Given the description of an element on the screen output the (x, y) to click on. 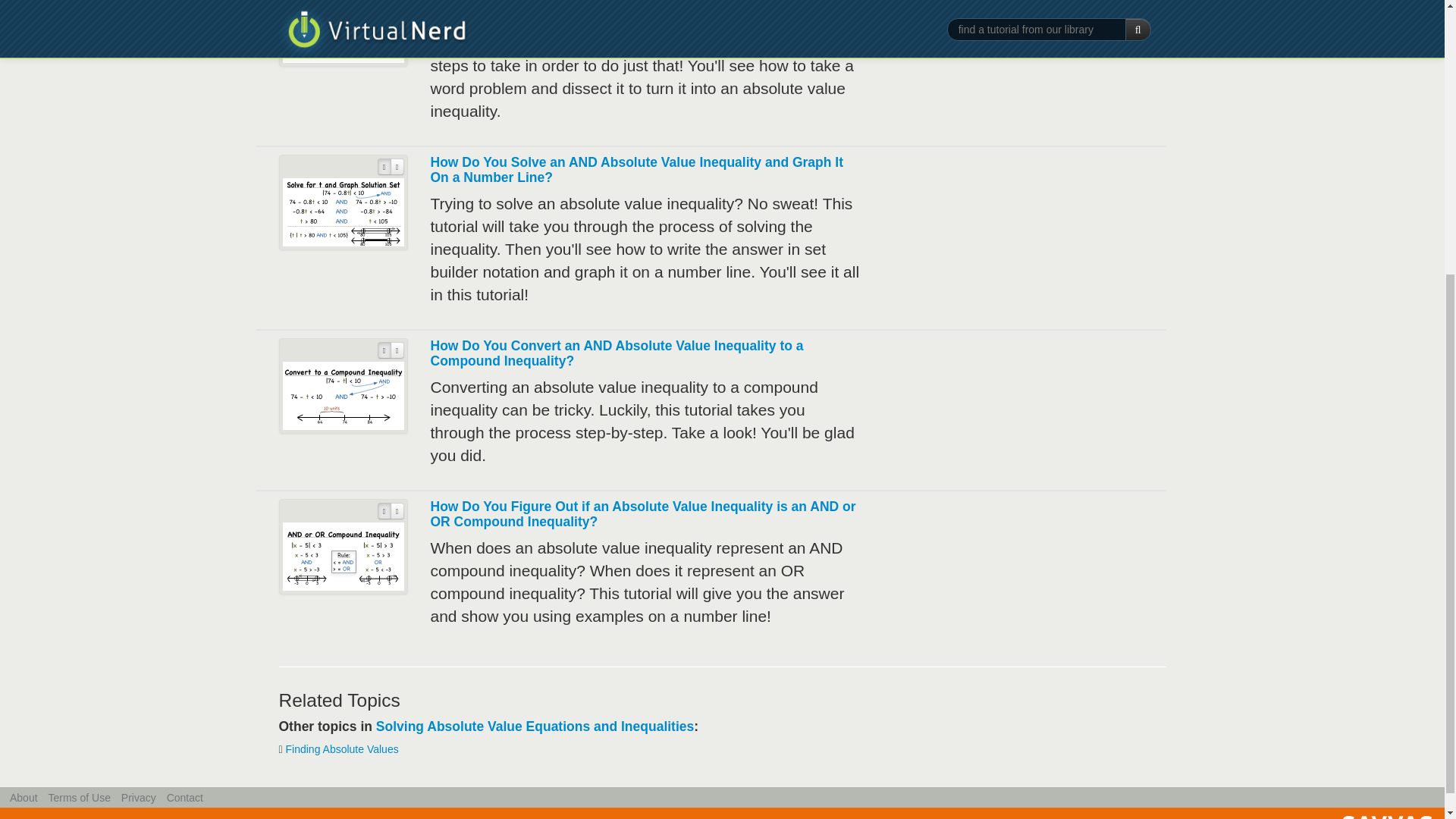
Finding Absolute Values (341, 748)
Solving Absolute Value Equations and Inequalities (534, 726)
About (23, 797)
